Given the description of an element on the screen output the (x, y) to click on. 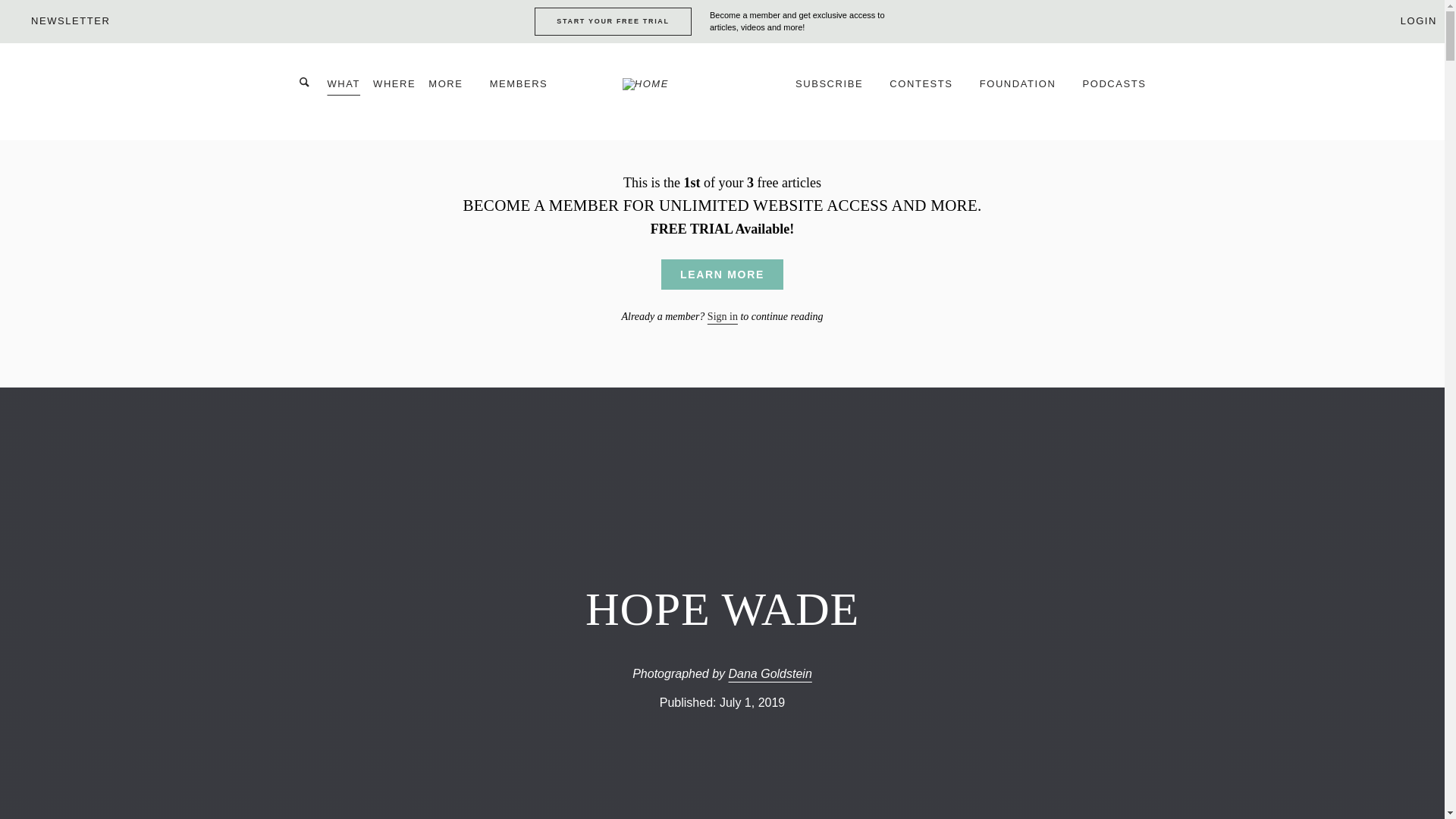
MEMBERS (525, 91)
MORE (452, 91)
Subscribe (835, 91)
WHAT (344, 91)
FOUNDATION (1024, 91)
SUBSCRIBE (835, 91)
LOGIN (1408, 20)
PODCASTS (1115, 91)
Members (525, 91)
Sign in (722, 316)
NEWSLETTER (58, 20)
START YOUR FREE TRIAL (612, 21)
LEARN MORE (722, 274)
WHERE (393, 91)
More (452, 91)
